Given the description of an element on the screen output the (x, y) to click on. 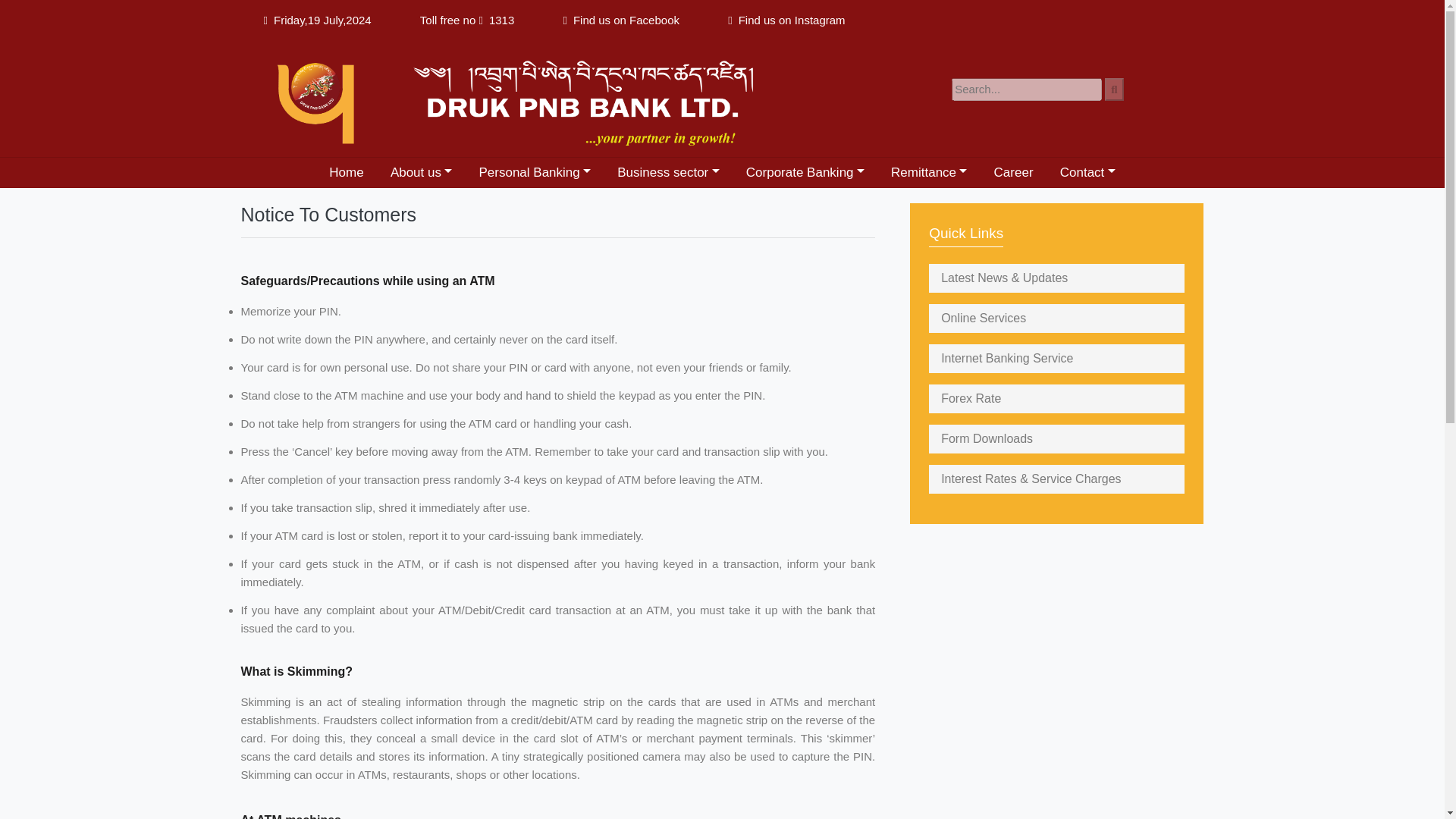
About us (421, 173)
About us (421, 173)
Home (346, 173)
Home (346, 173)
Career (1012, 173)
Druk PNB Bank Ltd. (522, 97)
Personal Banking (534, 173)
Corporate Banking (804, 173)
Business sector (668, 173)
Find us on Instagram (791, 19)
Personal Banking (534, 173)
Find us on Facebook (626, 19)
Remittance (928, 173)
Contact (1087, 173)
Business sector (668, 173)
